Given the description of an element on the screen output the (x, y) to click on. 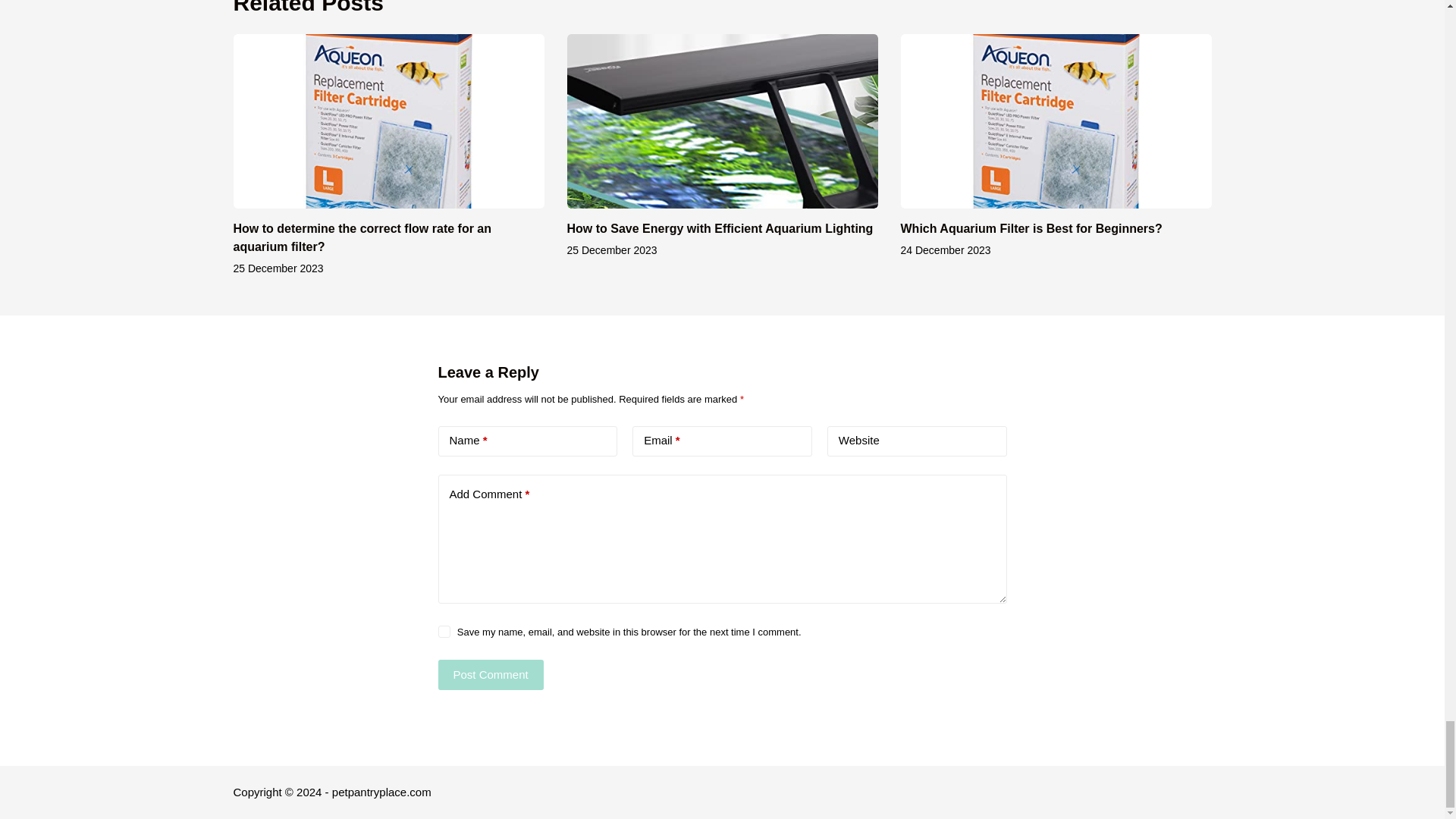
How to Save Energy with Efficient Aquarium Lighting (720, 228)
Which Aquarium Filter is Best for Beginners? (1031, 228)
yes (443, 631)
